Given the description of an element on the screen output the (x, y) to click on. 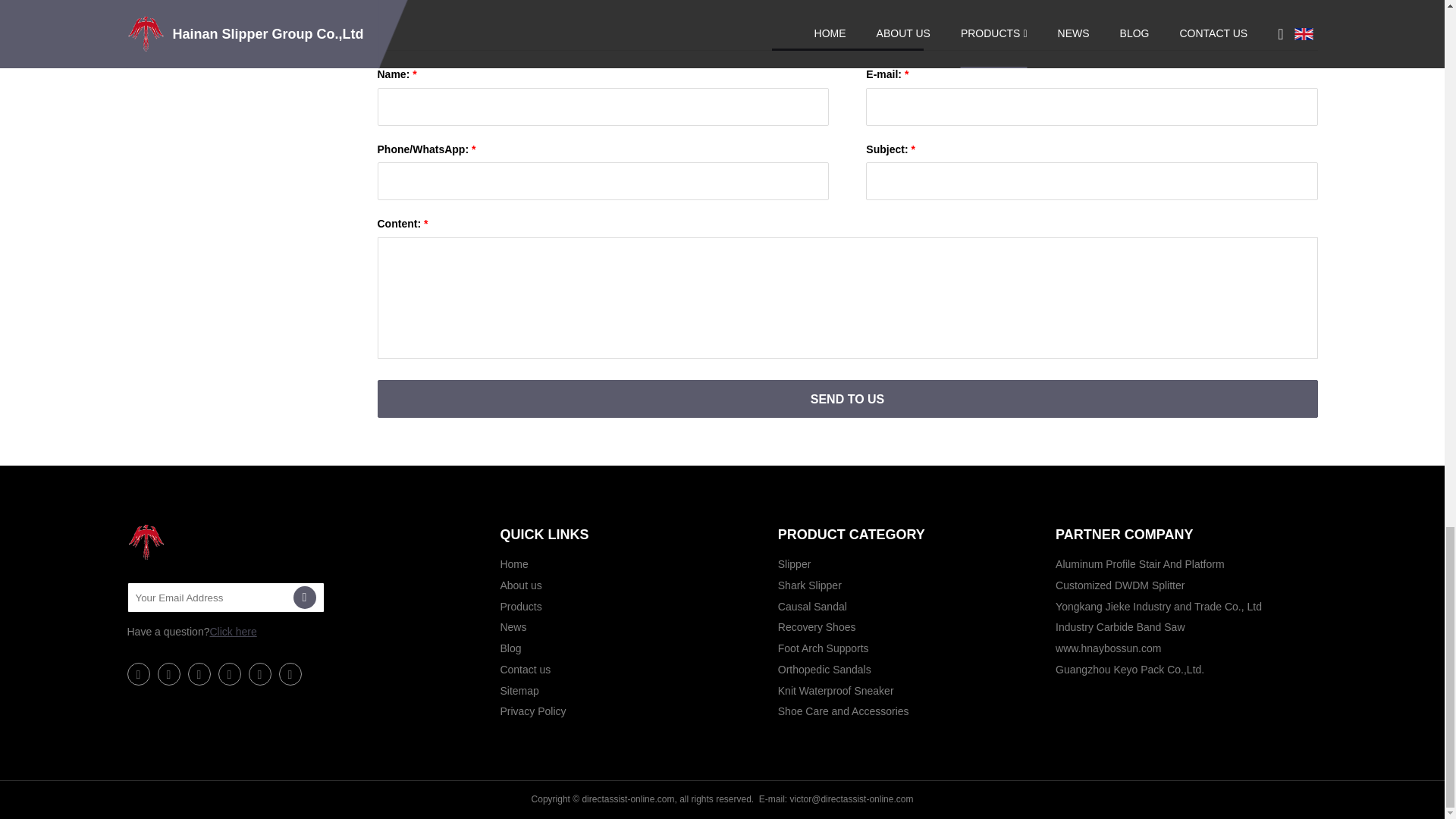
Hainan Slipper Group Co.,Ltd (203, 542)
facebook (138, 673)
Email (303, 597)
